Given the description of an element on the screen output the (x, y) to click on. 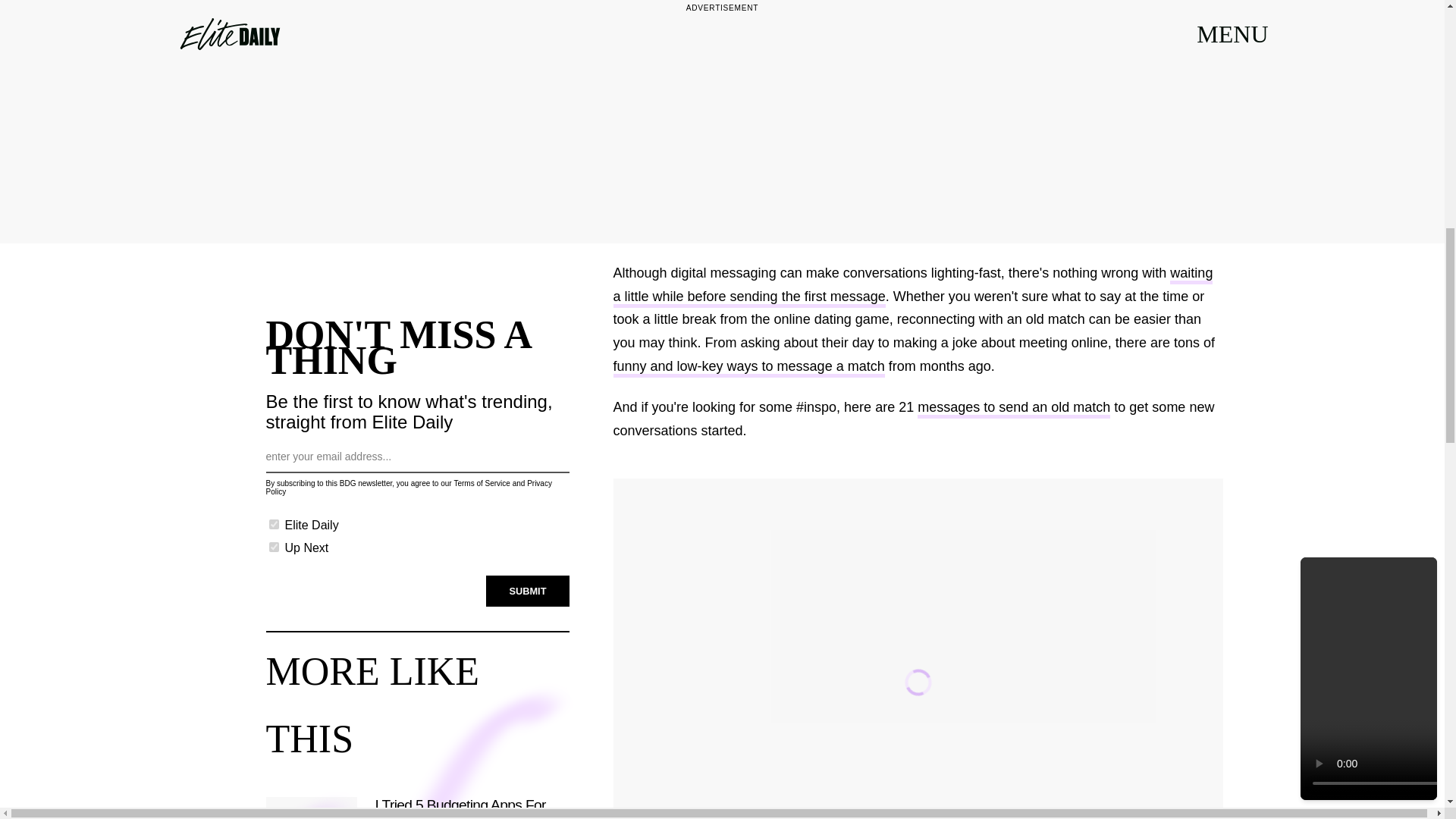
SUBMIT (527, 590)
waiting a little while before sending the first message (912, 286)
Terms of Service (480, 483)
Privacy Policy (407, 487)
messages to send an old match (1013, 408)
funny and low-key ways to message a match (747, 367)
